Given the description of an element on the screen output the (x, y) to click on. 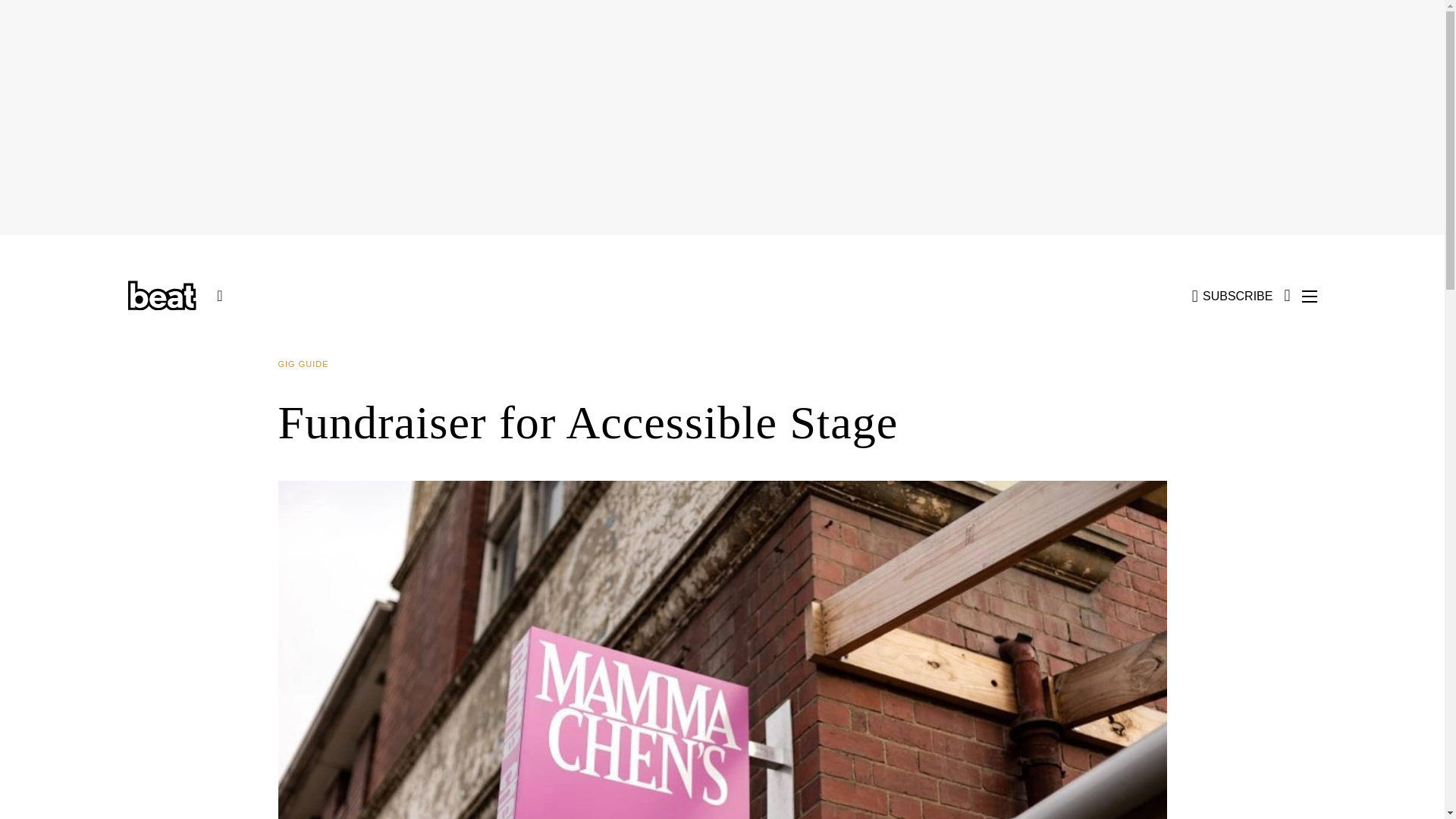
3rd party ad content (202, 575)
3rd party ad content (1241, 575)
GIG GUIDE (308, 364)
